Given the description of an element on the screen output the (x, y) to click on. 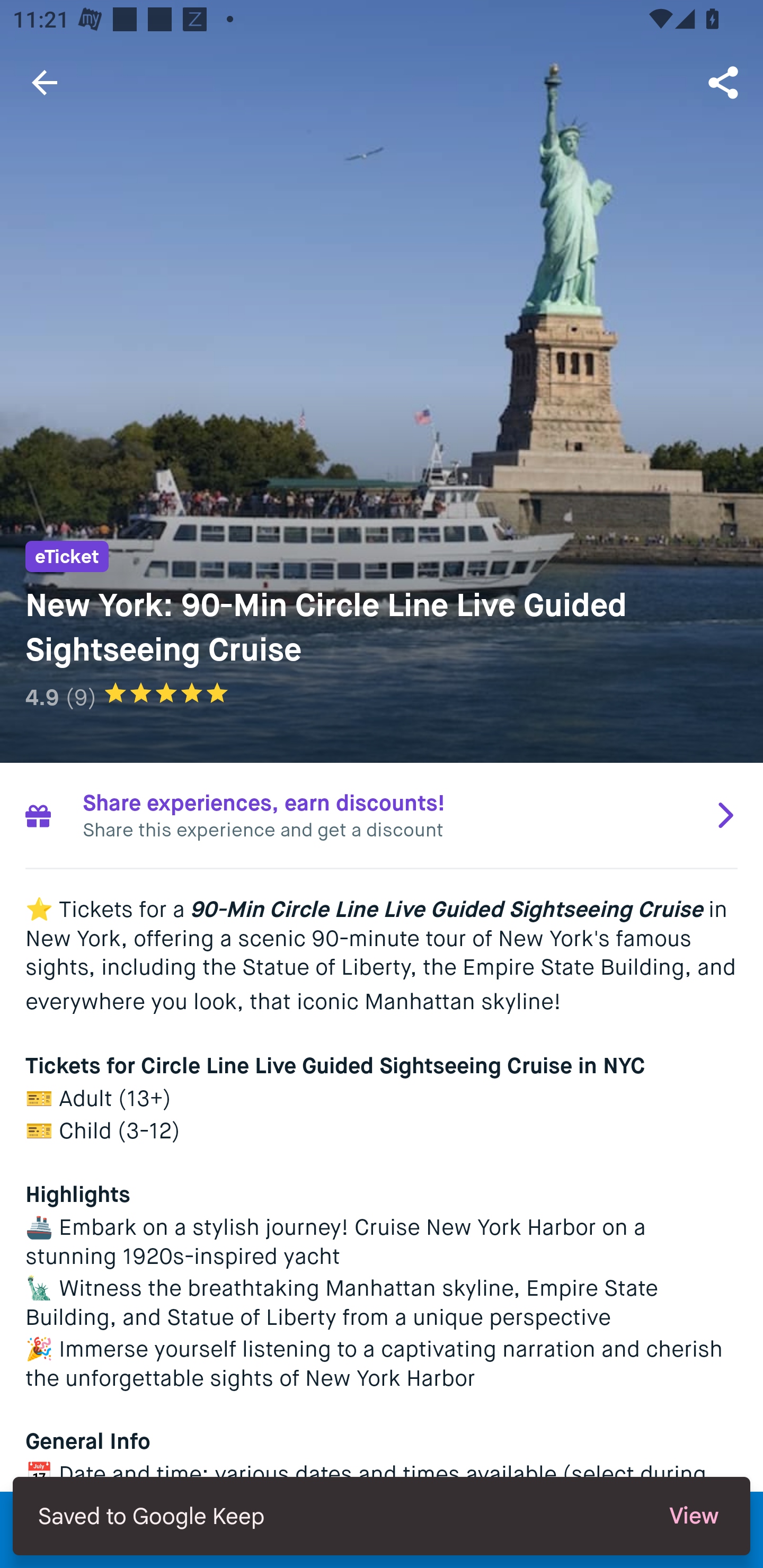
View (693, 1515)
